Given the description of an element on the screen output the (x, y) to click on. 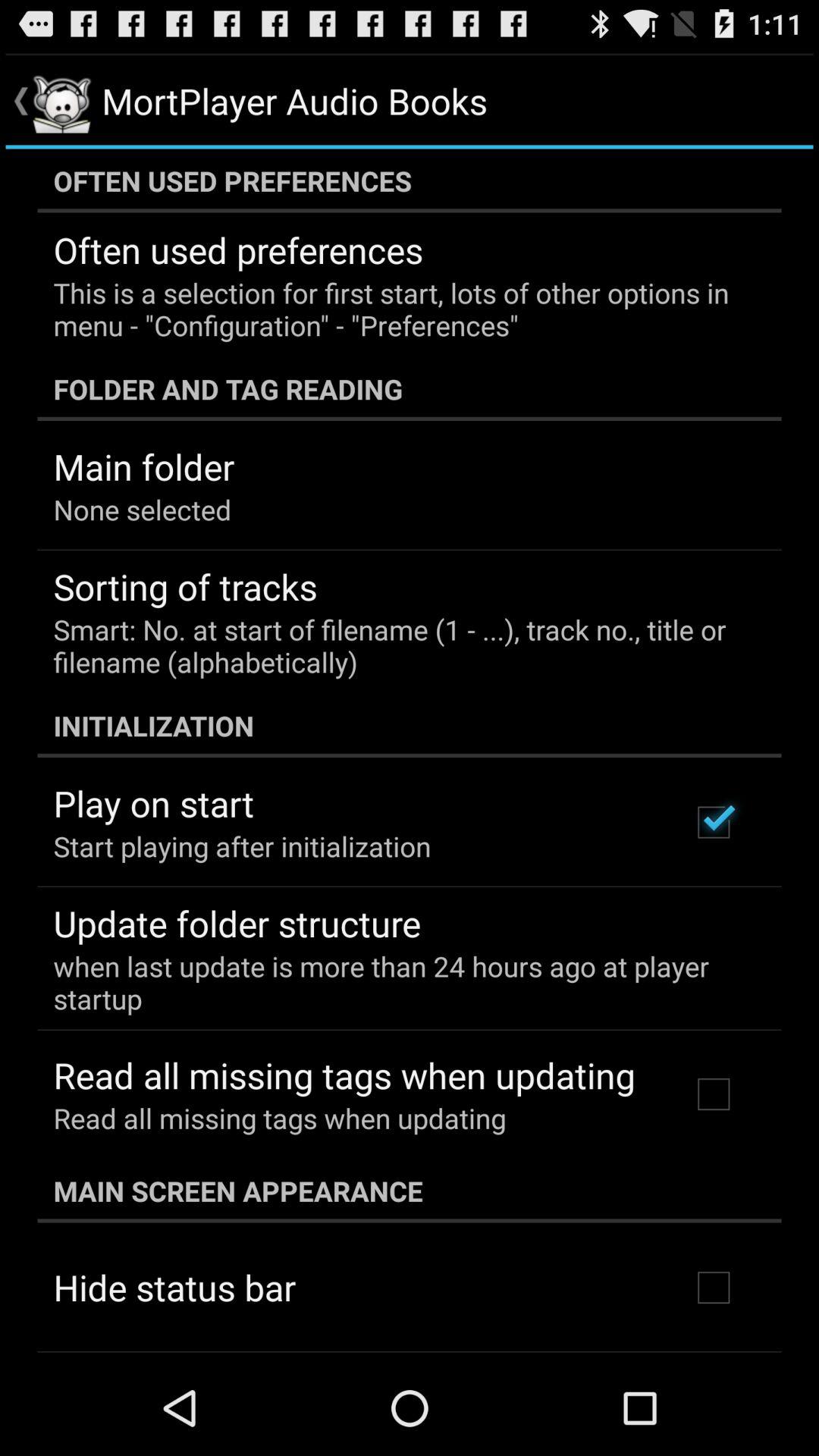
launch icon below the this is a (409, 388)
